Given the description of an element on the screen output the (x, y) to click on. 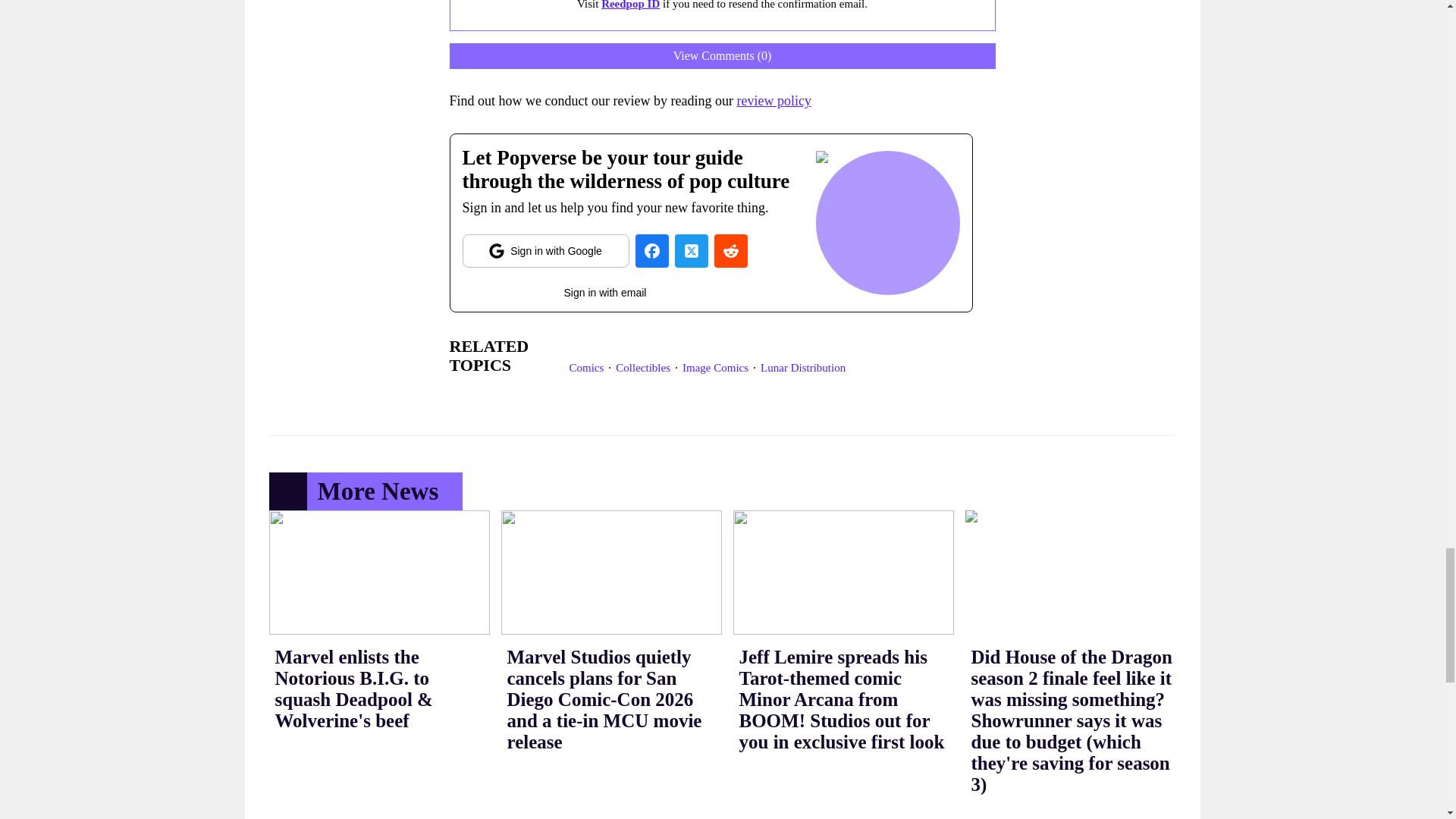
google (545, 250)
facebook (651, 250)
Sign in with Google (545, 250)
review policy (773, 100)
